Given the description of an element on the screen output the (x, y) to click on. 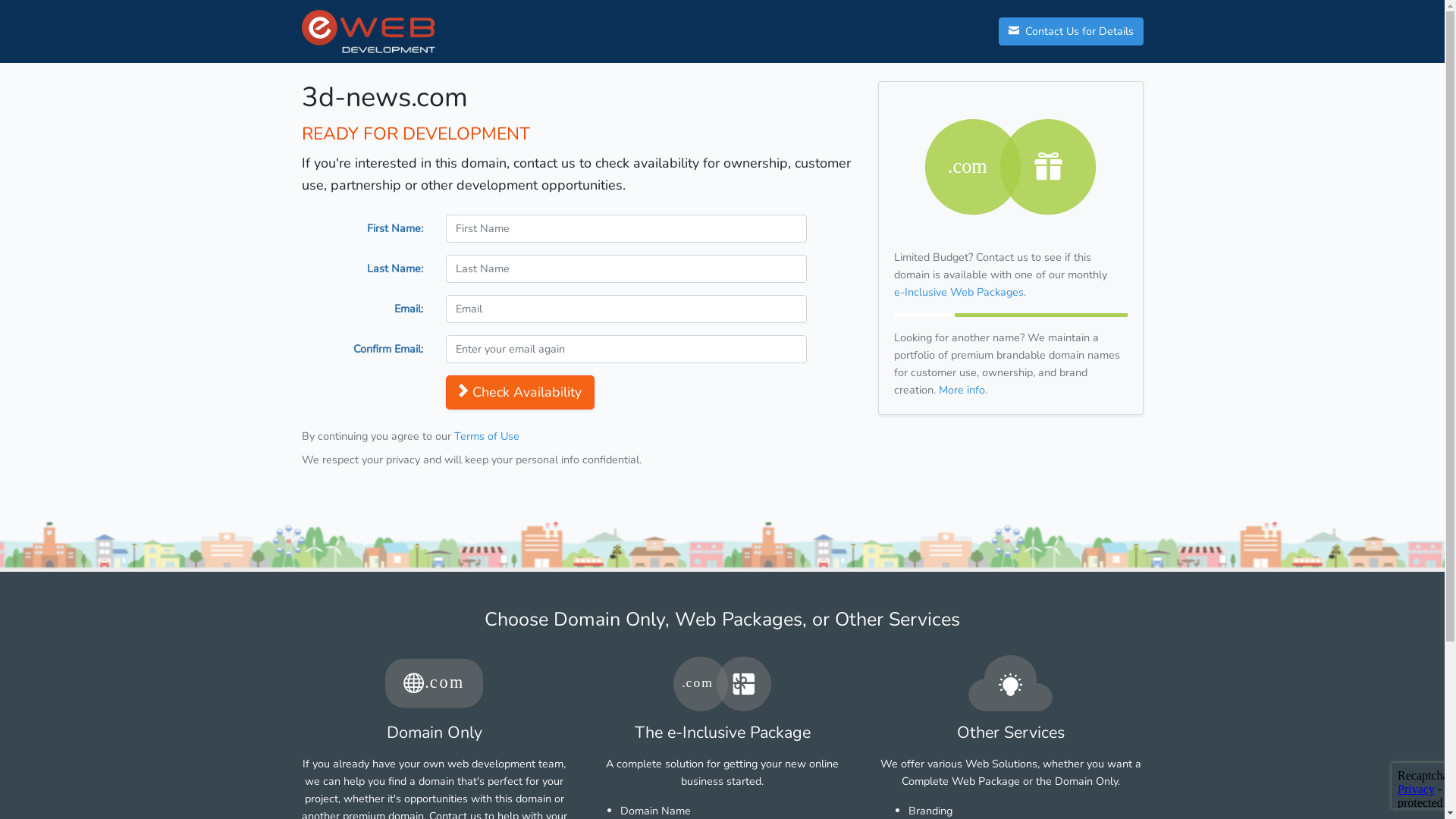
Contact Us for Details Element type: text (1069, 31)
More info. Element type: text (962, 389)
Terms of Use Element type: text (485, 435)
e-Inclusive Web Packages. Element type: text (959, 291)
Check Availability Element type: text (519, 392)
